Given the description of an element on the screen output the (x, y) to click on. 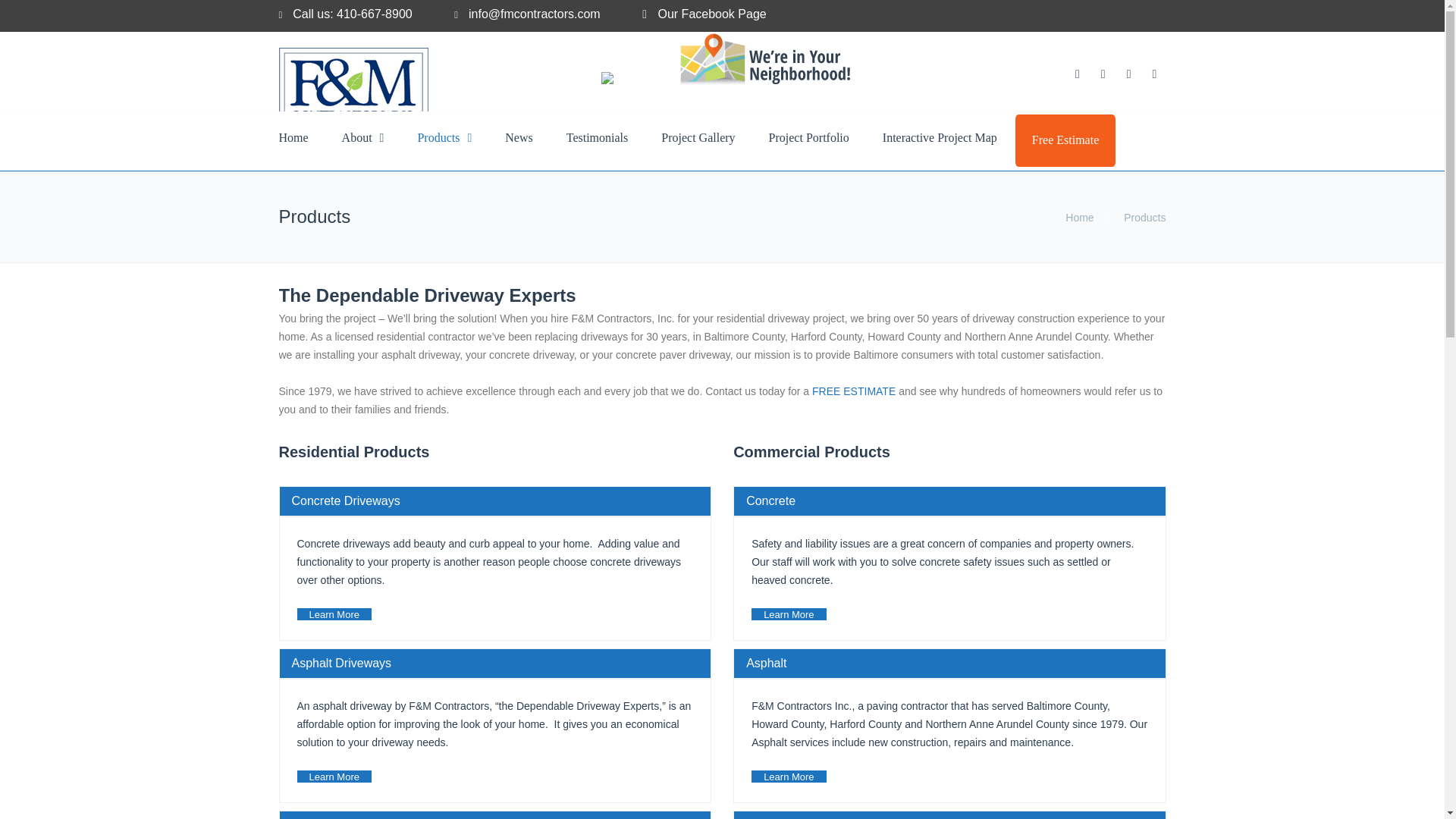
News (517, 138)
FREE ESTIMATE (853, 390)
Testimonials (597, 138)
Home (1079, 217)
Learn More (334, 613)
Project Gallery (698, 138)
Our Facebook Page (711, 13)
Project Portfolio (809, 138)
Interactive Project Map (939, 138)
Concrete Driveways (494, 500)
